Given the description of an element on the screen output the (x, y) to click on. 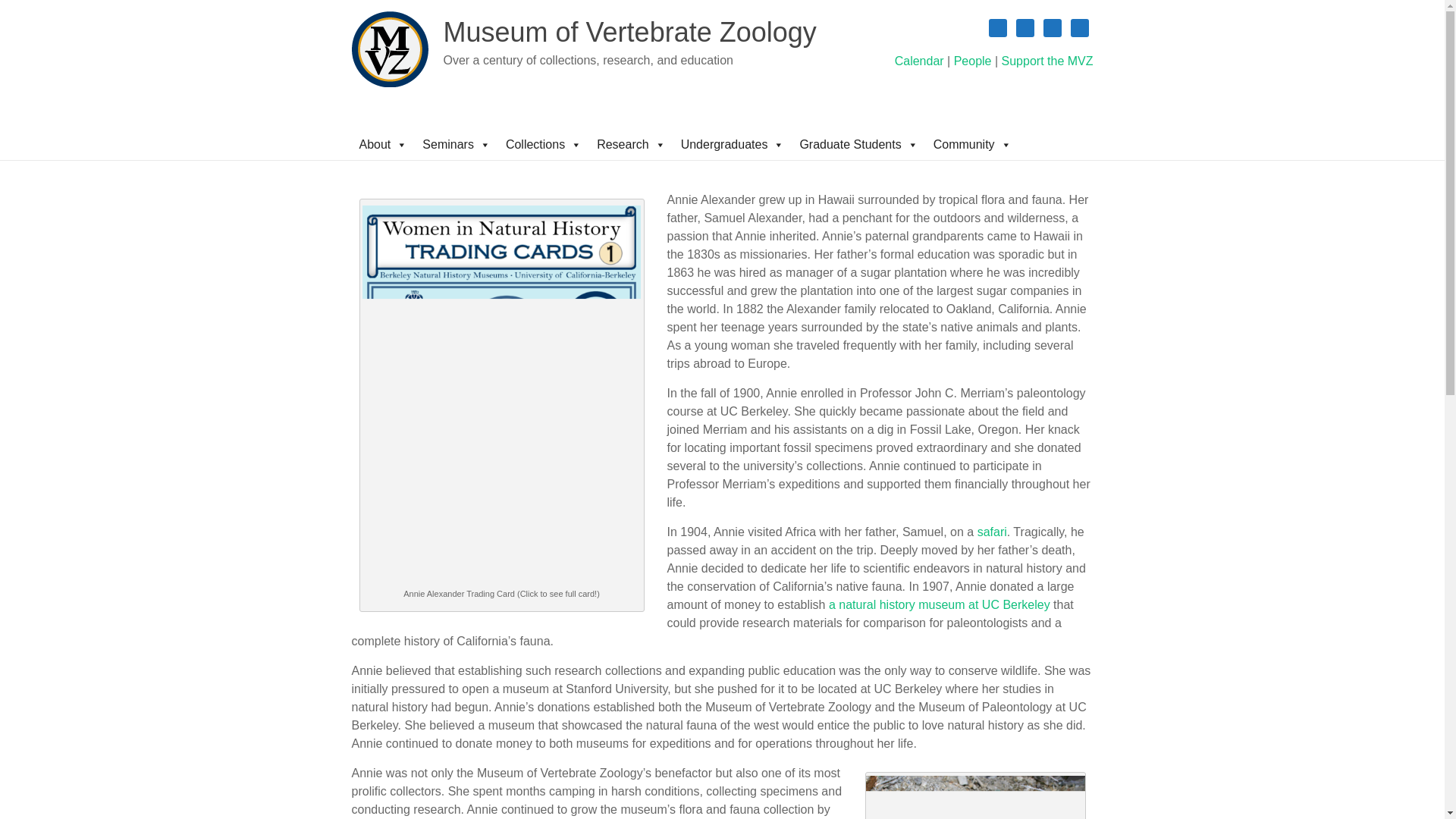
Undergraduates (732, 144)
Seminars (455, 144)
Calendar (919, 60)
Collections (543, 144)
People (972, 60)
Museum of Vertebrate Zoology (628, 31)
Support the MVZ (1047, 60)
Research (630, 144)
Museum of Vertebrate Zoology (628, 31)
About (383, 144)
